Given the description of an element on the screen output the (x, y) to click on. 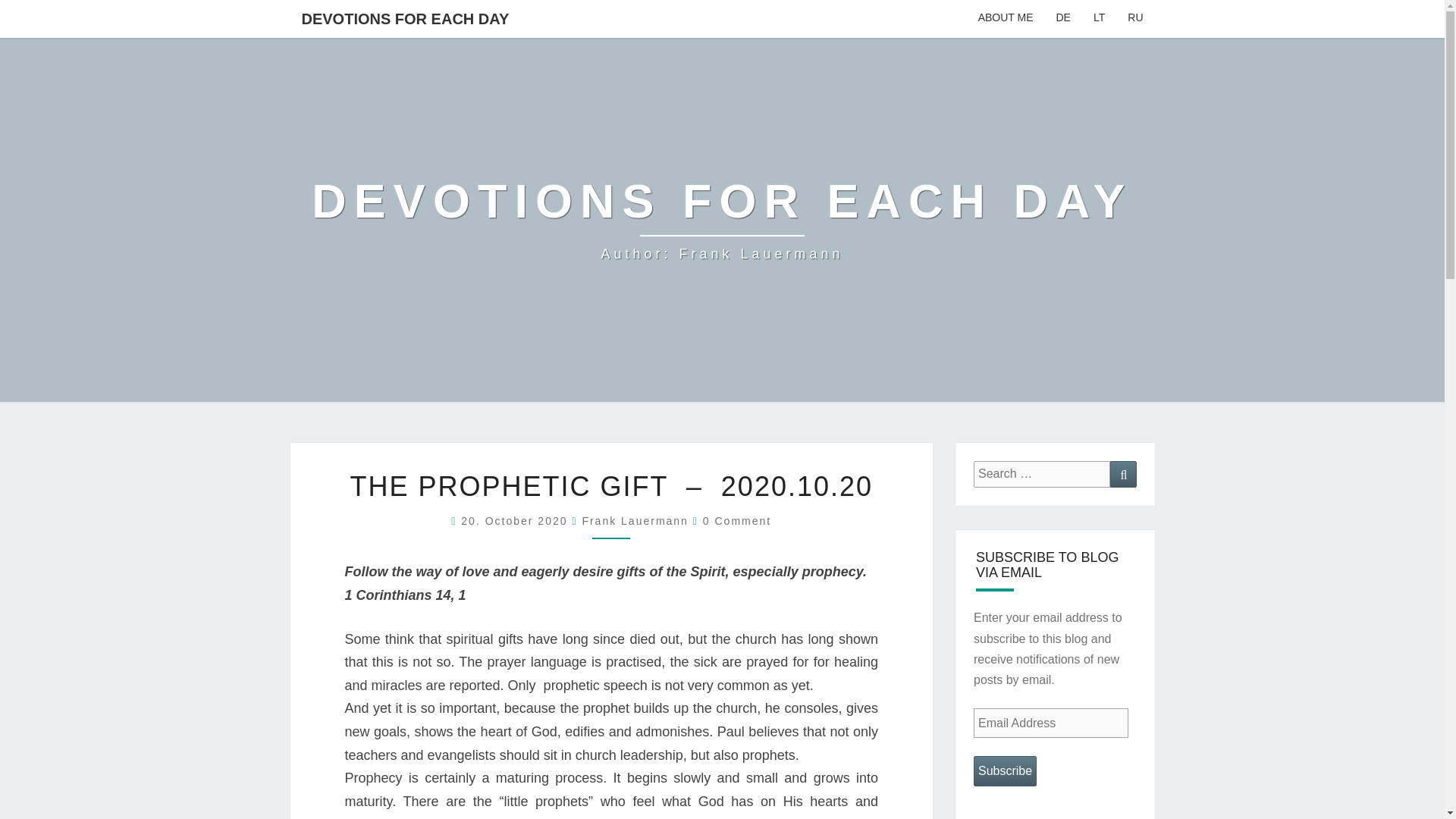
Search (1123, 474)
9:51 (516, 521)
ABOUT ME (1005, 18)
Search for: (1041, 474)
Frank Lauermann (634, 521)
View all posts by Frank Lauermann (634, 521)
Subscribe (721, 219)
0 Comment (1005, 770)
DE (737, 521)
